Given the description of an element on the screen output the (x, y) to click on. 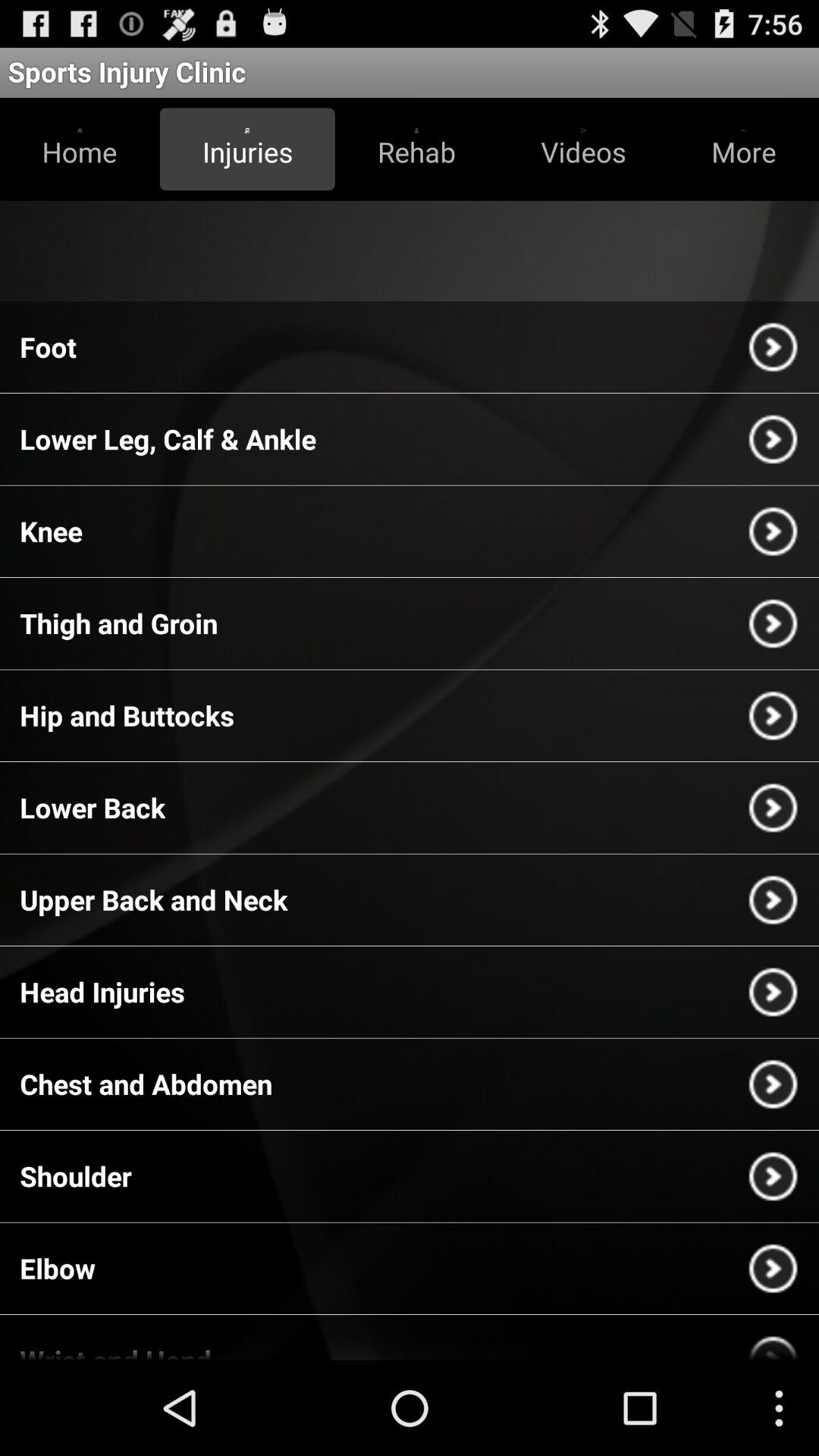
press hip and buttocks app (126, 715)
